Given the description of an element on the screen output the (x, y) to click on. 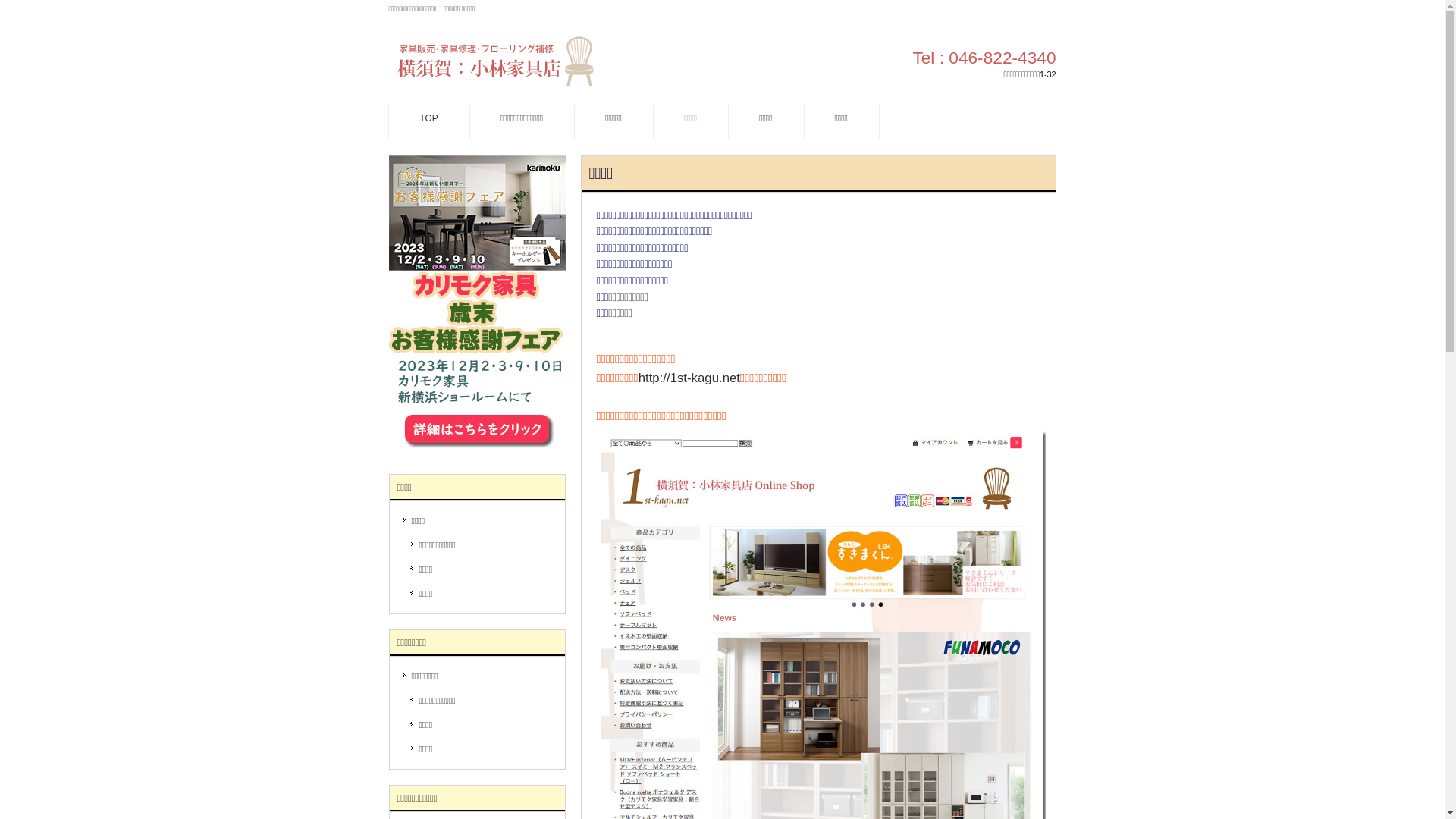
TOP Element type: text (428, 121)
http://1st-kagu.net Element type: text (689, 377)
